Given the description of an element on the screen output the (x, y) to click on. 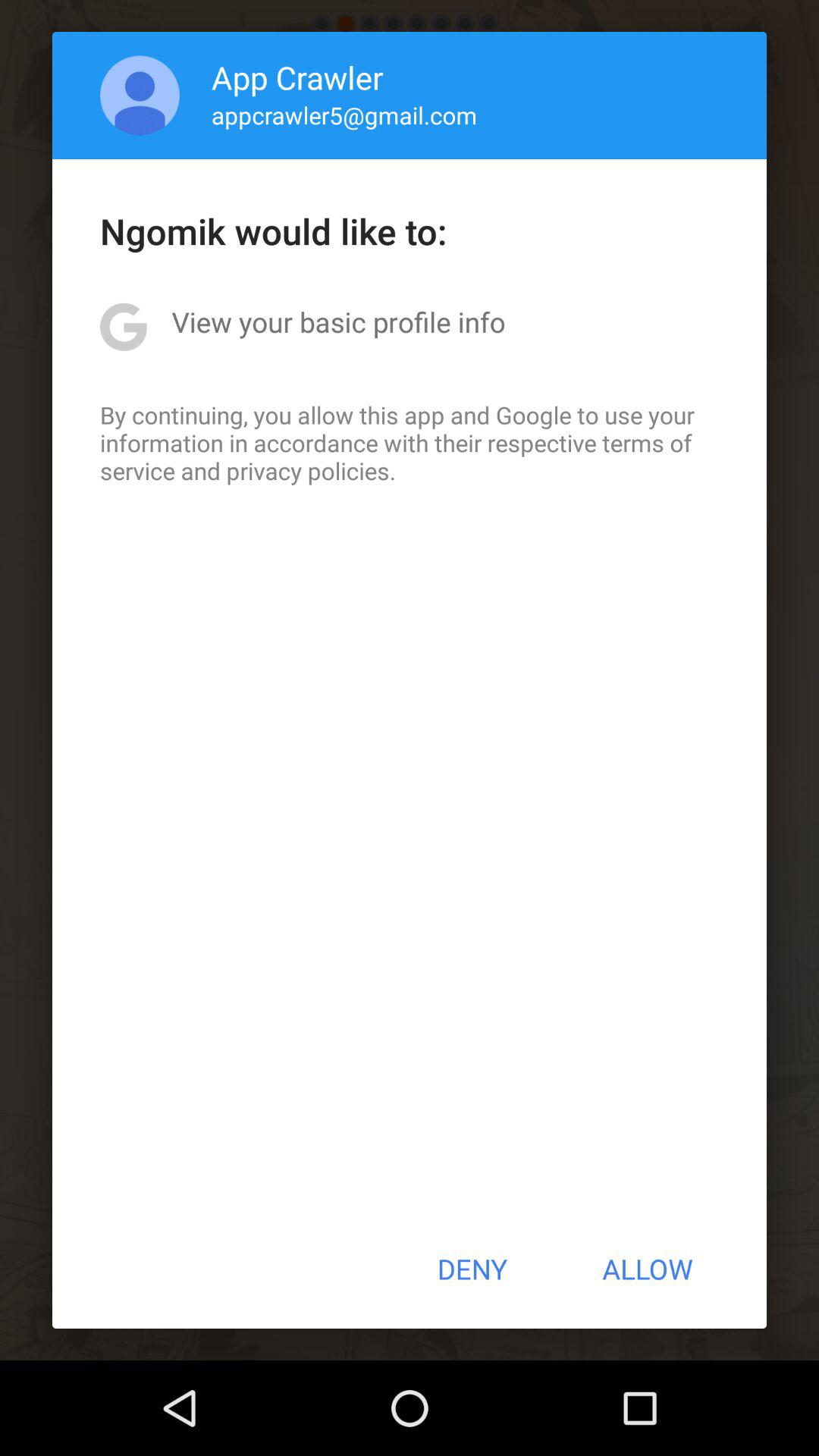
select icon at the bottom (471, 1268)
